Given the description of an element on the screen output the (x, y) to click on. 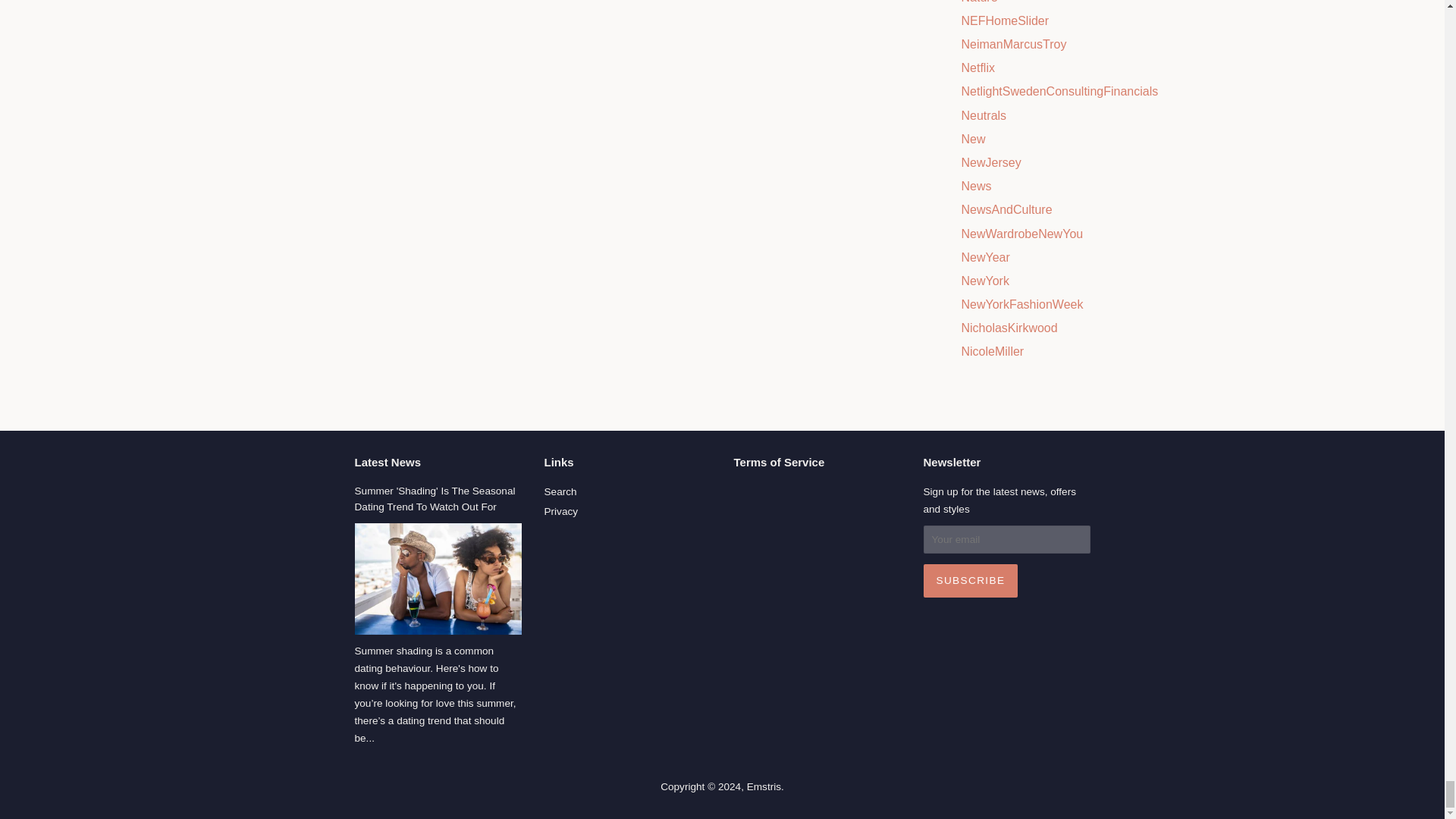
Subscribe (970, 580)
